Given the description of an element on the screen output the (x, y) to click on. 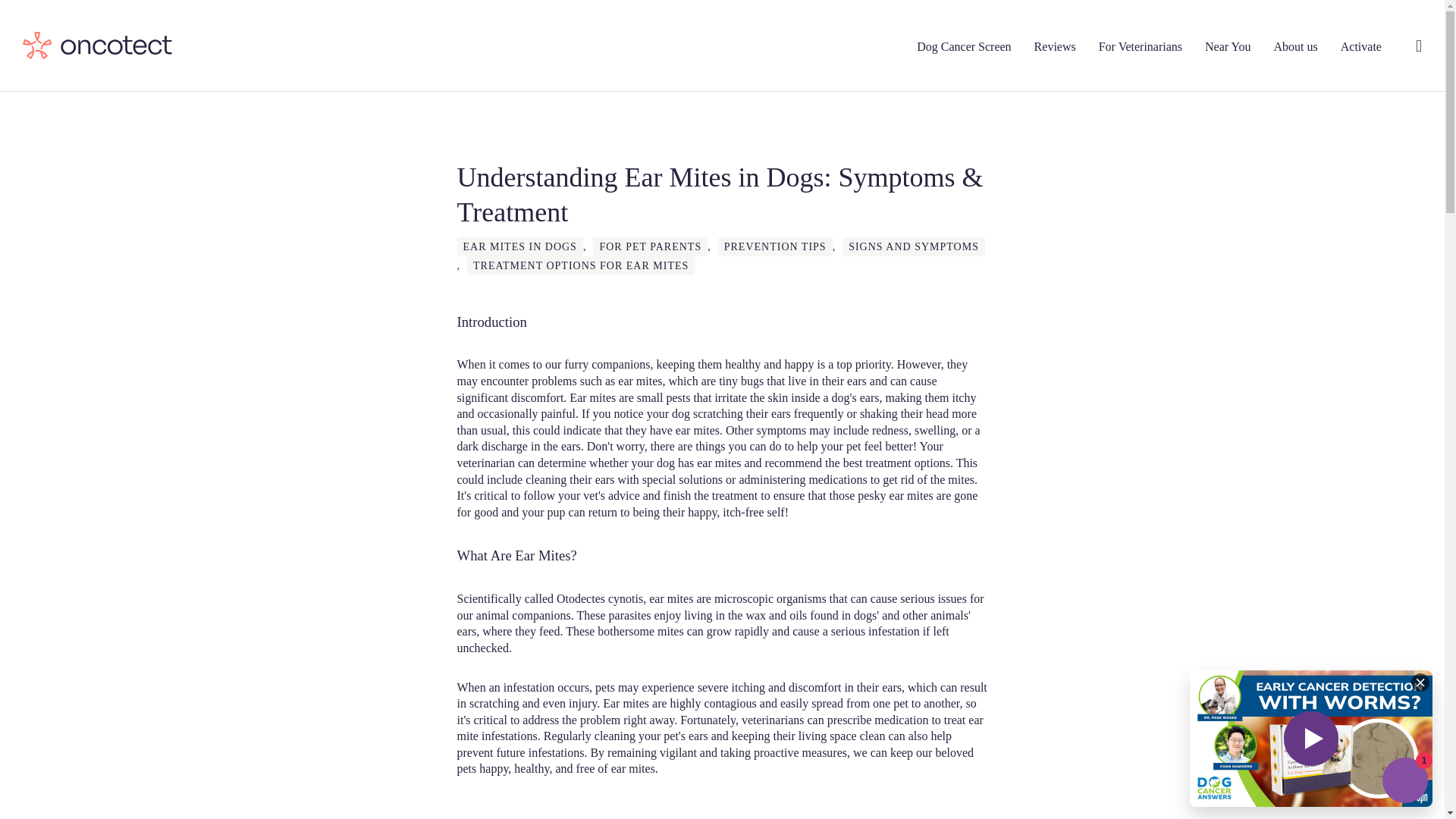
Reviews (1054, 45)
FOR PET PARENTS (649, 246)
TREATMENT OPTIONS FOR EAR MITES (580, 265)
Dog Cancer Screen (963, 45)
PREVENTION TIPS (774, 246)
Near You (1227, 45)
EAR MITES IN DOGS (519, 246)
Activate (1360, 45)
About us (1295, 45)
Shopify online store chat (1404, 781)
SIGNS AND SYMPTOMS (914, 246)
